Given the description of an element on the screen output the (x, y) to click on. 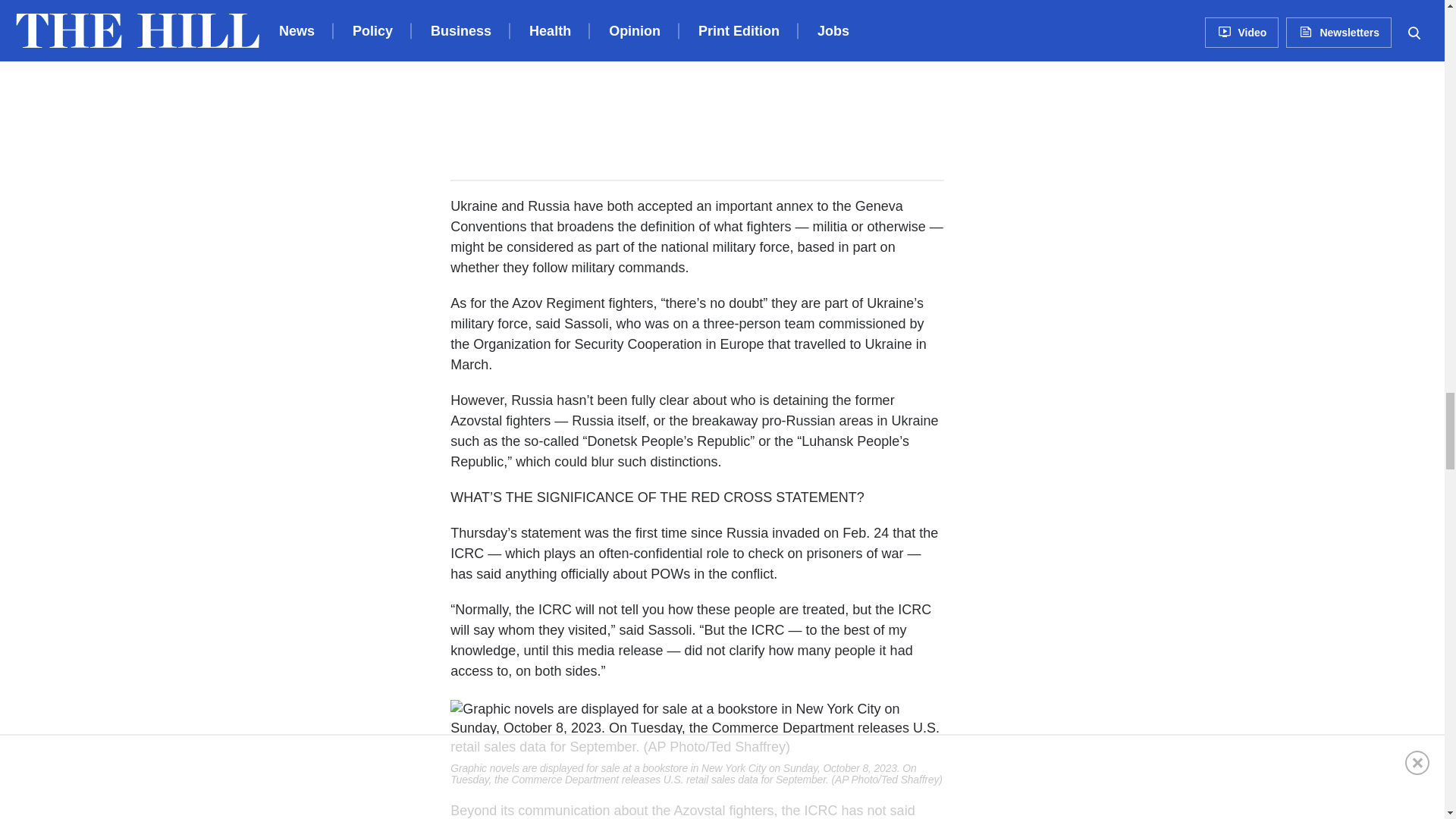
3rd party ad content (696, 83)
